Given the description of an element on the screen output the (x, y) to click on. 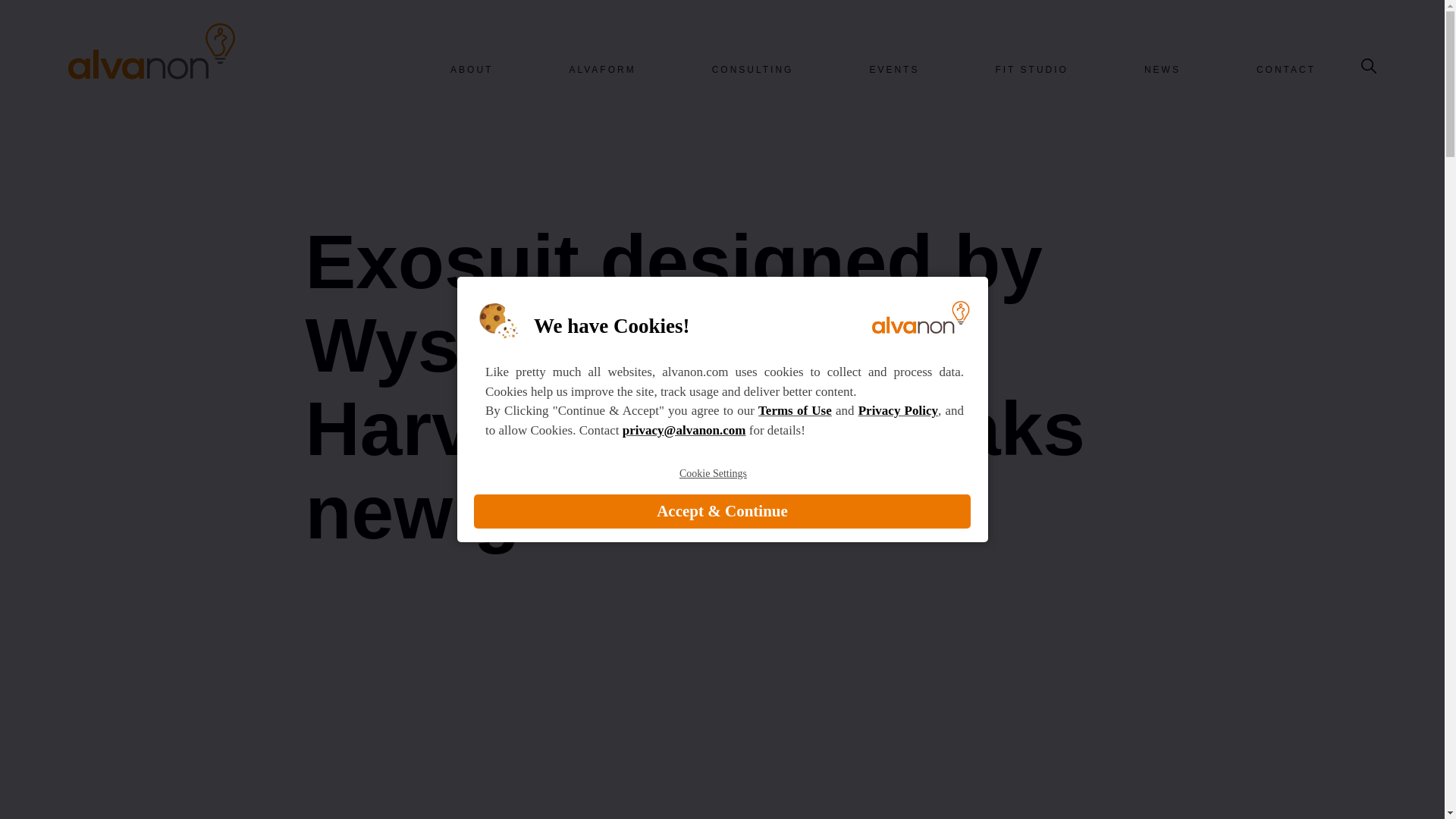
CONTACT (1286, 69)
NEWS (1162, 69)
ABOUT (471, 69)
CONSULTING (752, 69)
EVENTS (893, 69)
FIT STUDIO (1030, 69)
ALVAFORM (601, 69)
